Given the description of an element on the screen output the (x, y) to click on. 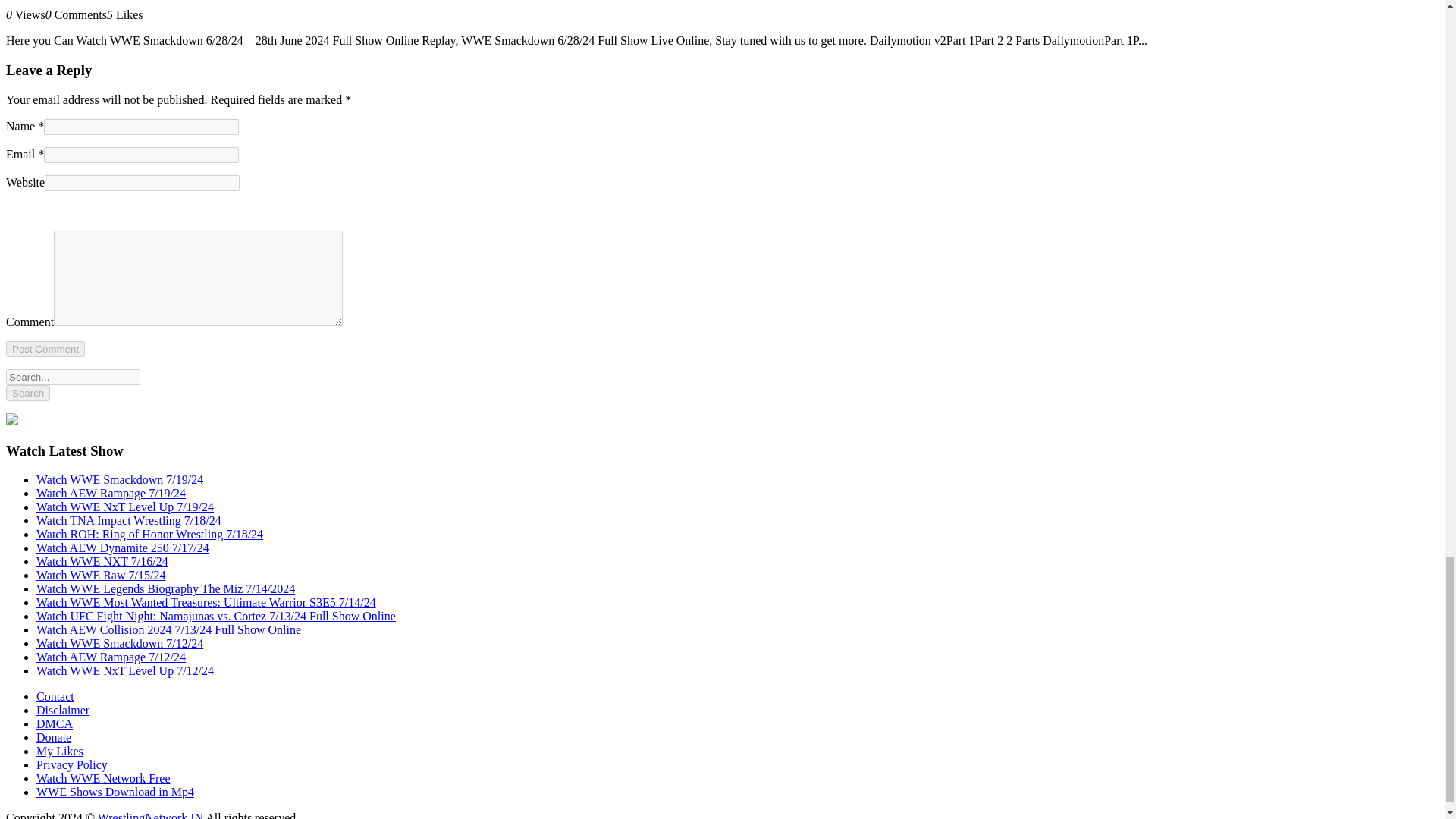
Post Comment (44, 349)
Search (27, 392)
Search (27, 392)
